Given the description of an element on the screen output the (x, y) to click on. 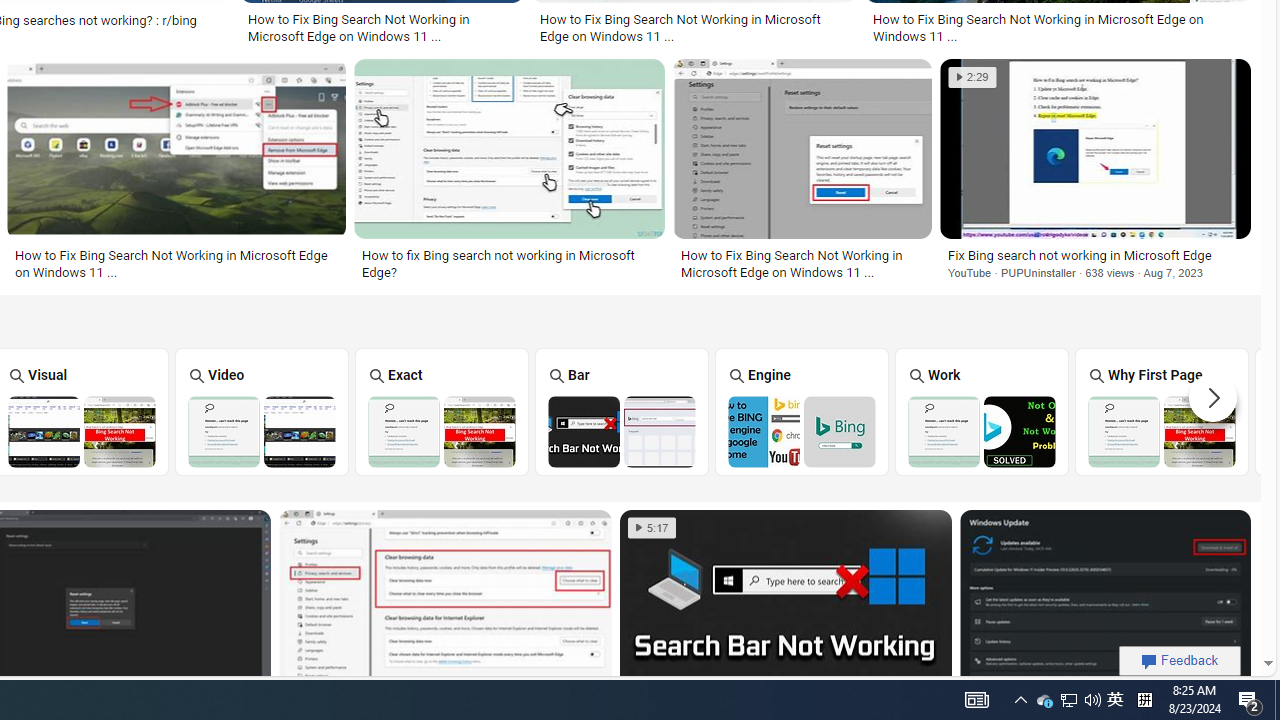
Image result for Bing Search Not Working (1105, 602)
Bing Visual Search Not Working (81, 431)
Why First Page (1162, 411)
Exact (441, 411)
How to fix Bing search not working in Microsoft Edge? (509, 263)
2:29 (972, 77)
Fix Bing search not working in Microsoft Edge (1095, 255)
Bing Work Search Not Working Work (981, 411)
Why First Page of Bing Search Not Working (1162, 431)
Bing Search Engine Not Working (802, 431)
Bing Exact Search Not Working (441, 431)
Bing Video Search Not Working (262, 431)
Work (981, 411)
5:17 (652, 528)
